Given the description of an element on the screen output the (x, y) to click on. 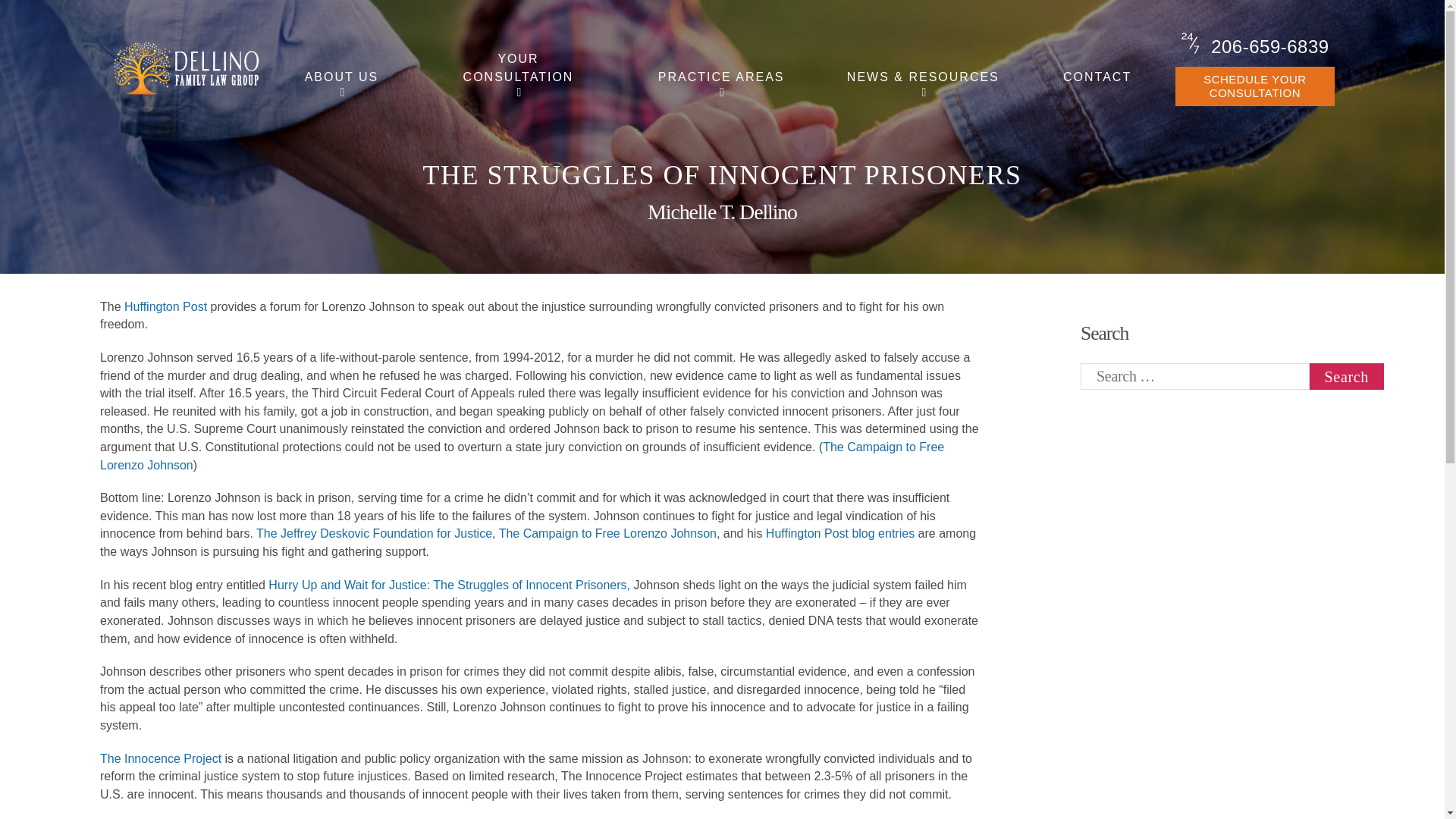
Huffington Post blog entries (839, 533)
The Innocence Project (160, 758)
The Campaign to Free Lorenzo Johnson (607, 533)
SCHEDULE YOUR CONSULTATION (1253, 86)
CONTACT (1096, 77)
Search (1346, 376)
ABOUT US (341, 77)
PRACTICE AREAS (721, 77)
Search (1346, 376)
The Campaign to Free Lorenzo Johnson (521, 455)
